Given the description of an element on the screen output the (x, y) to click on. 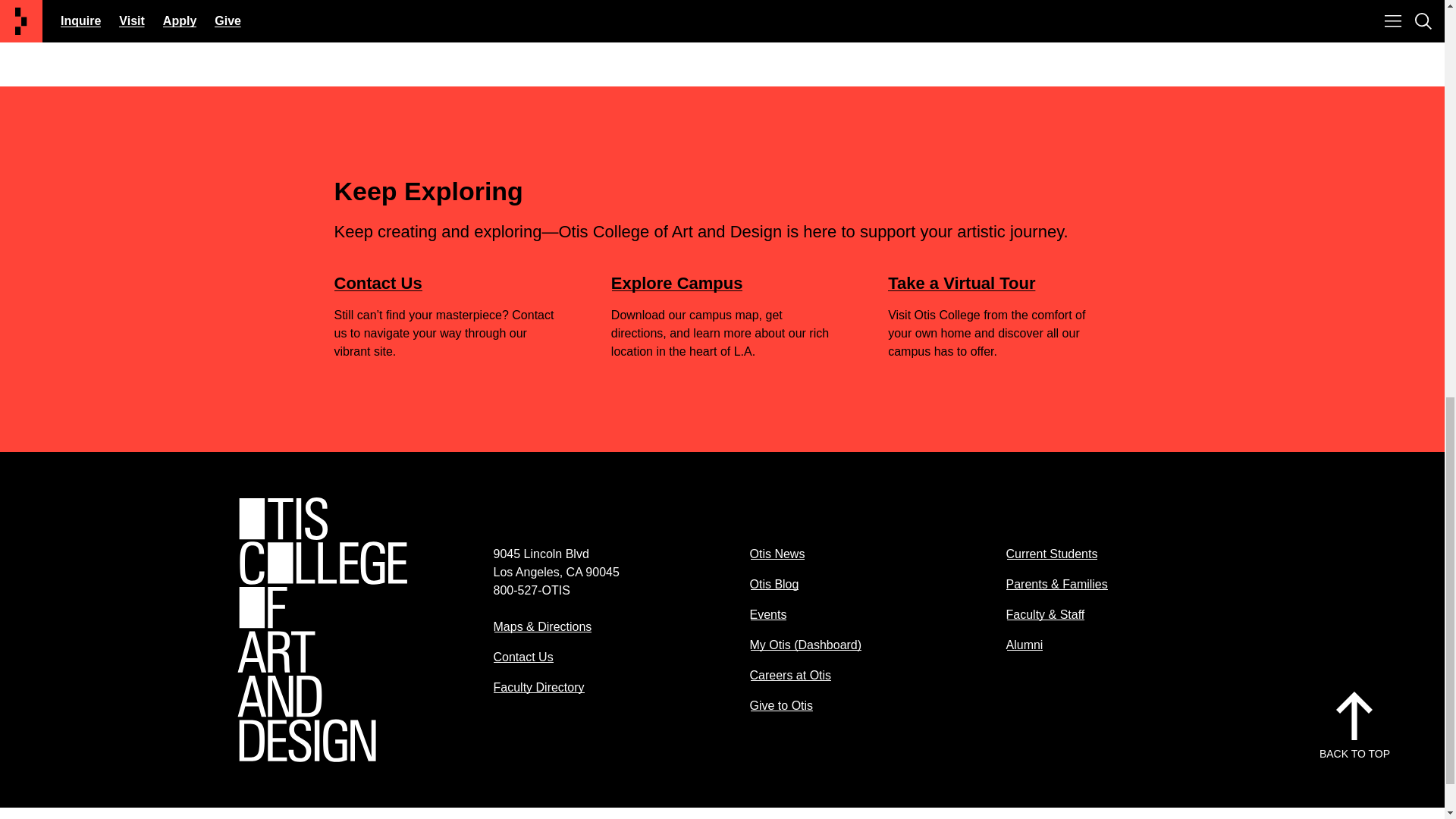
Otis Blog (773, 584)
Take a Virtual Tour (961, 282)
Otis News (777, 553)
Contact Us (523, 656)
Faculty Directory (538, 686)
Events (767, 614)
Contact Us (377, 282)
Campus Life (482, 3)
Events, Blog, and News (513, 31)
Explore Campus (676, 282)
